Given the description of an element on the screen output the (x, y) to click on. 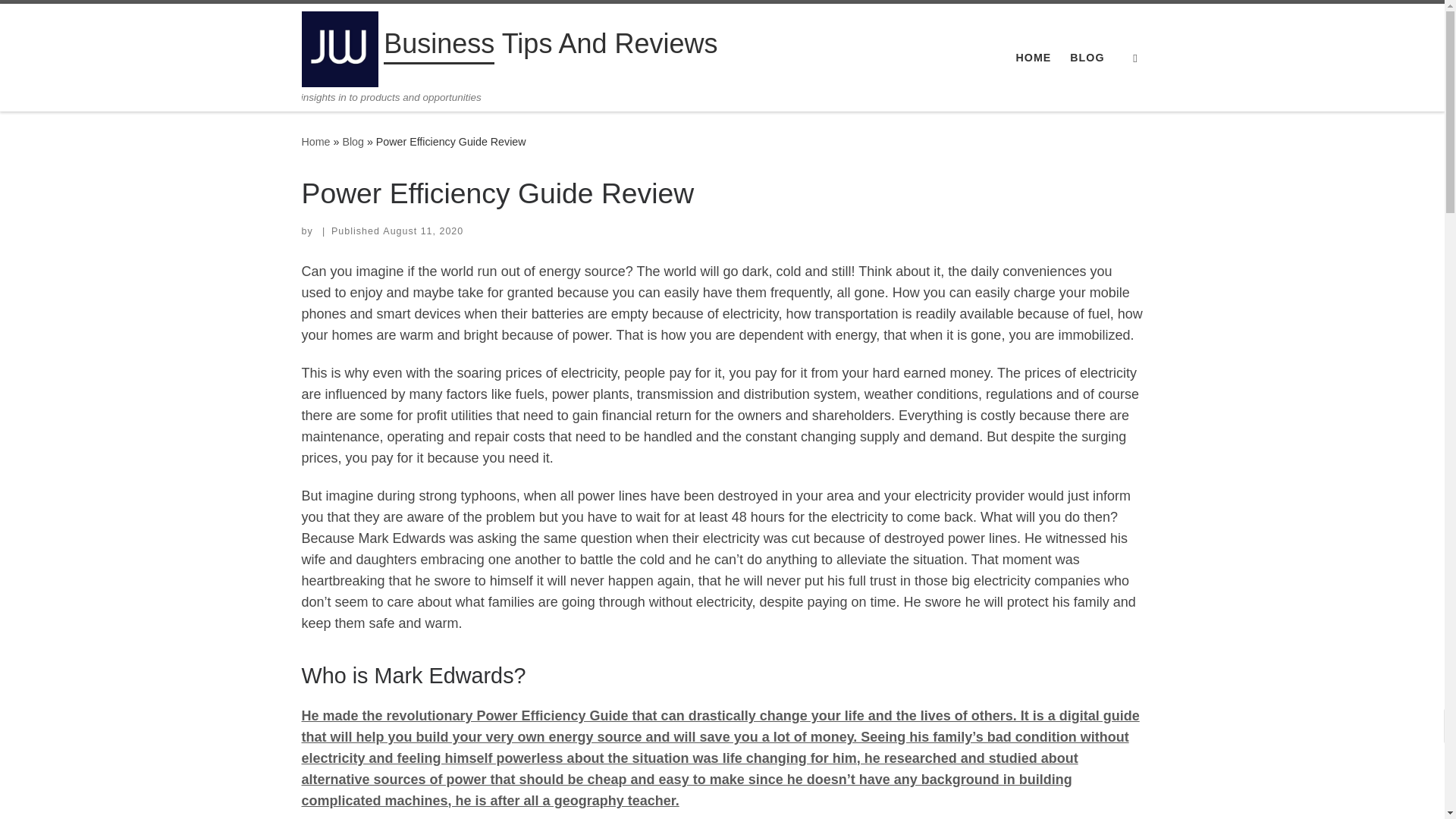
Skip to content (60, 20)
Blog (353, 141)
11:12 am (422, 231)
Home (315, 141)
Blog (353, 141)
Business Tips And Reviews (315, 141)
August 11, 2020 (422, 231)
BLOG (1087, 57)
Business Tips And Reviews (550, 47)
HOME (1032, 57)
